Given the description of an element on the screen output the (x, y) to click on. 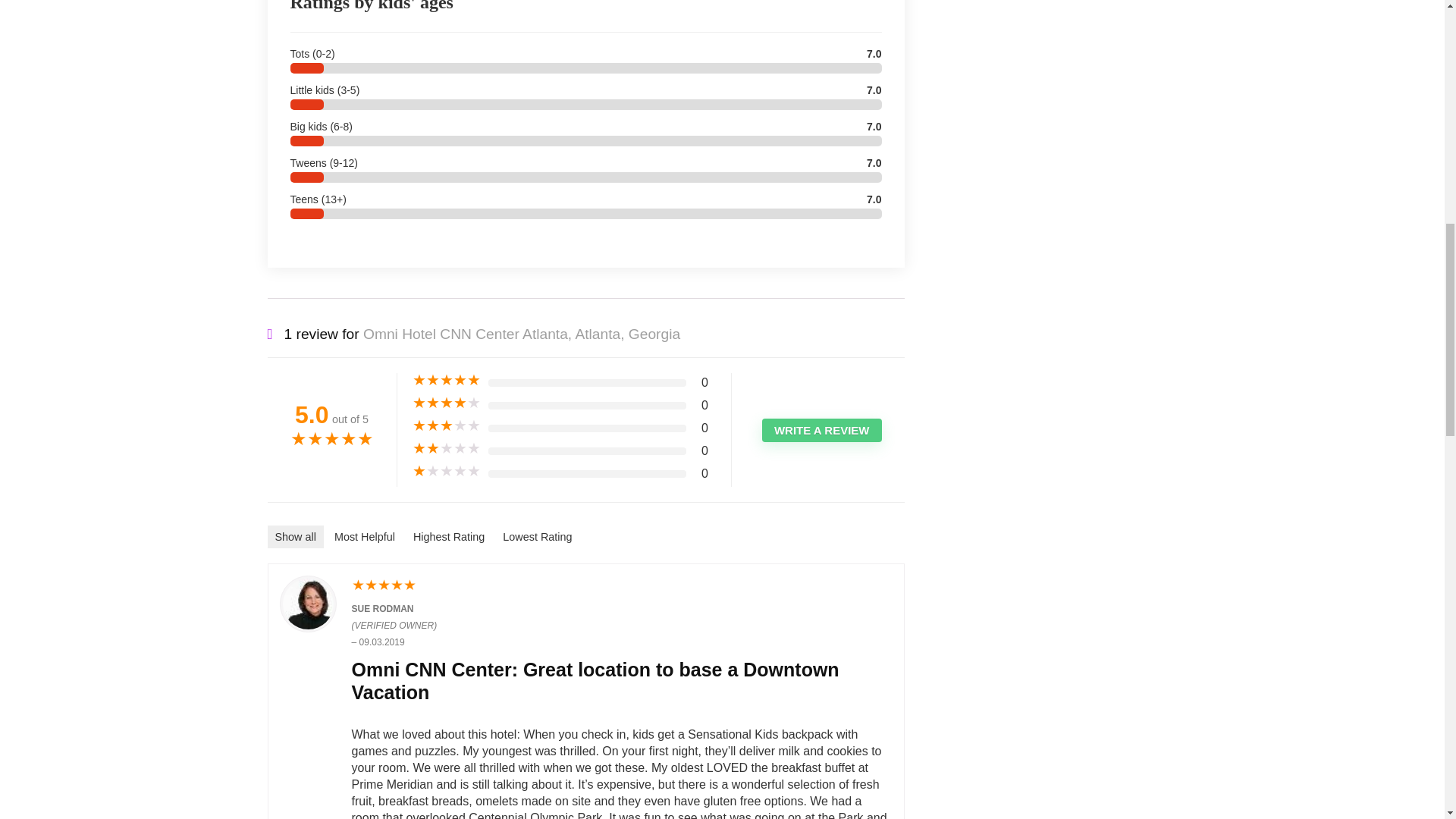
Rated 5 out of 5 (330, 440)
Rated 4 out of 5 (446, 403)
Rated 1 out of 5 (446, 471)
Rated 5 out of 5 (446, 380)
Rated 5 out of 5 (622, 586)
Rated 3 out of 5 (446, 426)
Rated 2 out of 5 (446, 448)
WRITE A REVIEW (821, 430)
